Given the description of an element on the screen output the (x, y) to click on. 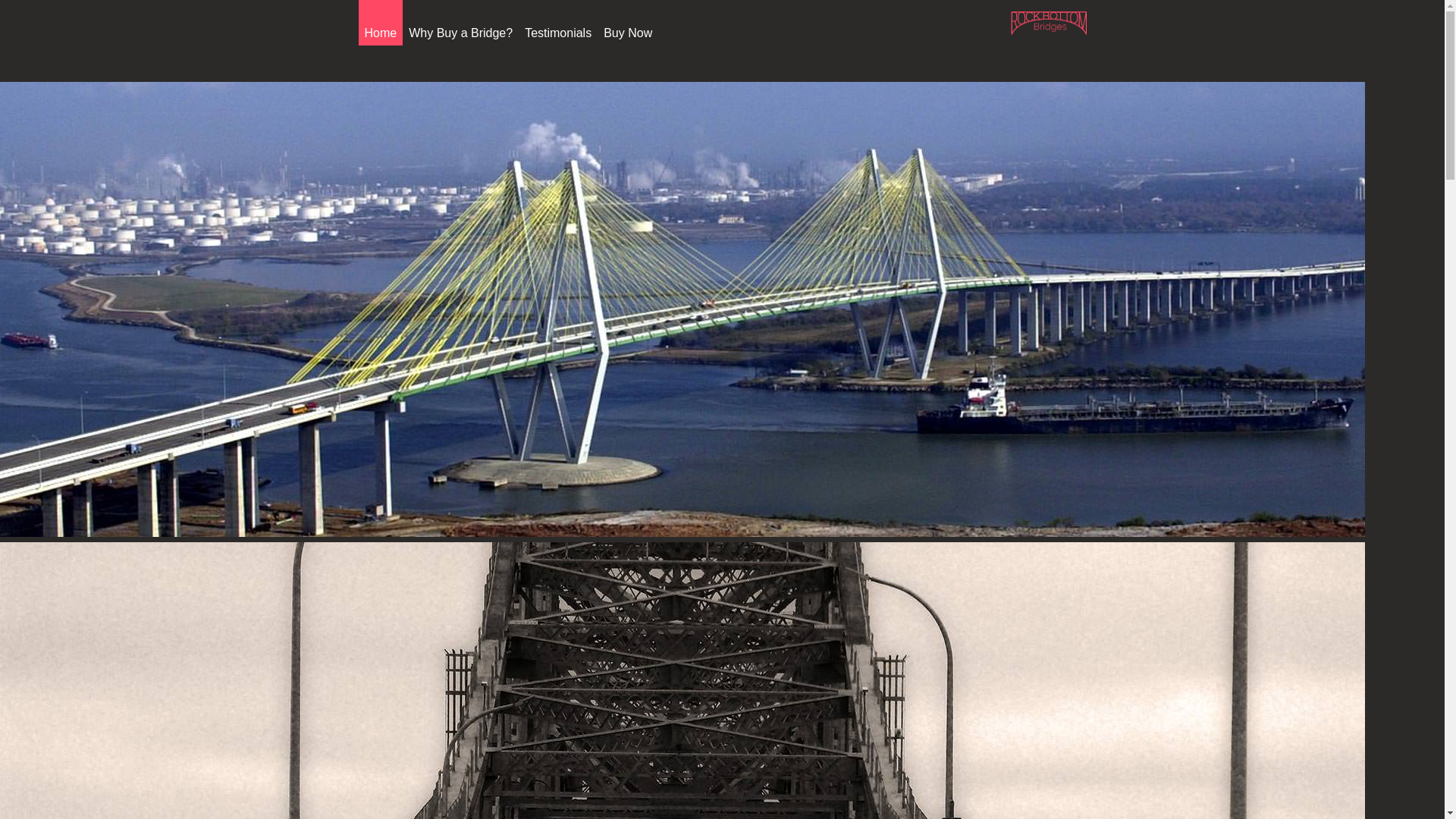
Why Buy a Bridge? (460, 33)
Buy Now (628, 33)
Home (380, 33)
Testimonials (557, 33)
